Given the description of an element on the screen output the (x, y) to click on. 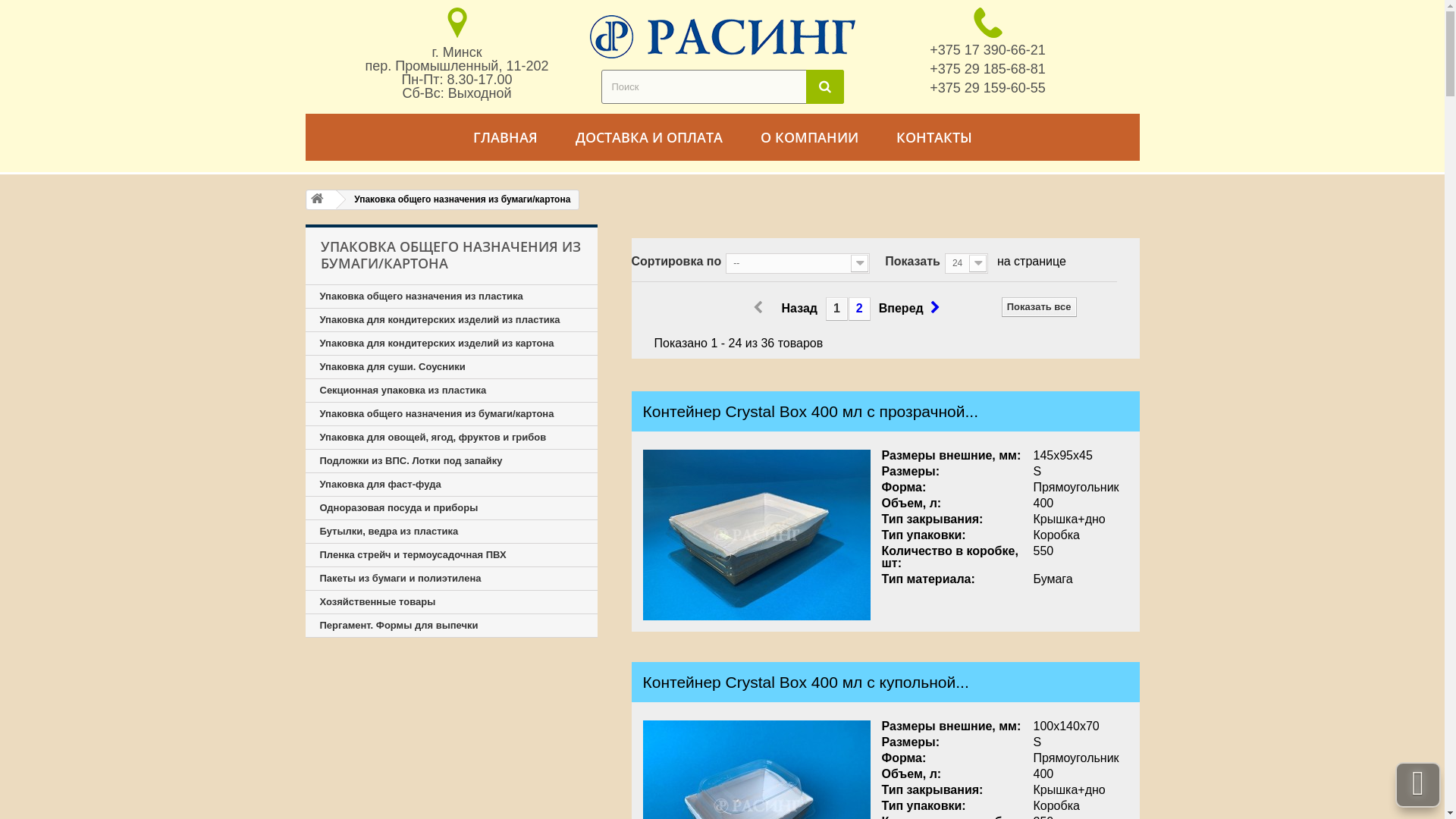
2 Element type: text (859, 308)
